Given the description of an element on the screen output the (x, y) to click on. 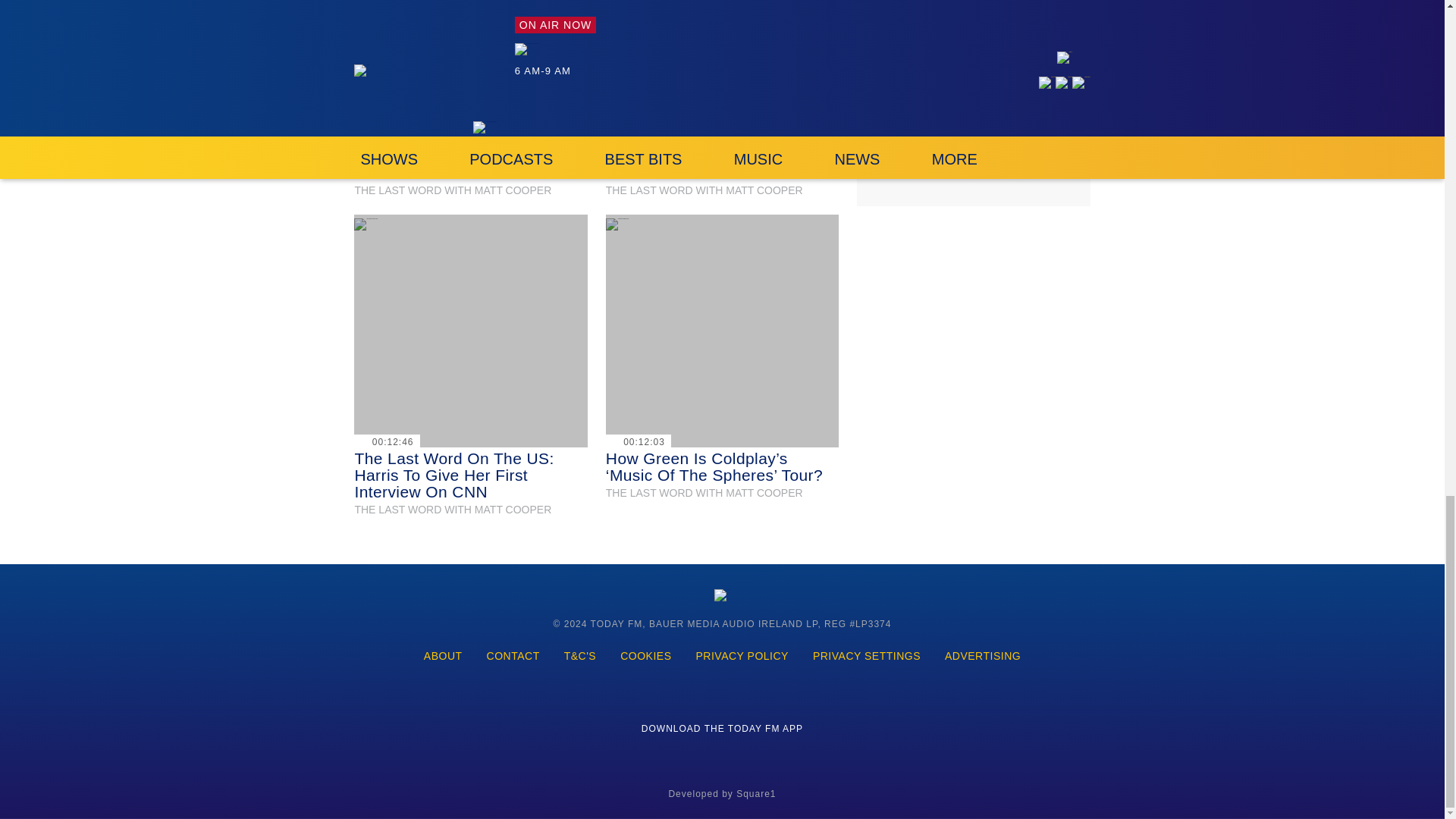
Privacy settings (866, 656)
About (443, 656)
Cookies (645, 656)
Advertising (982, 656)
Contact (512, 656)
Privacy Policy (742, 656)
